Given the description of an element on the screen output the (x, y) to click on. 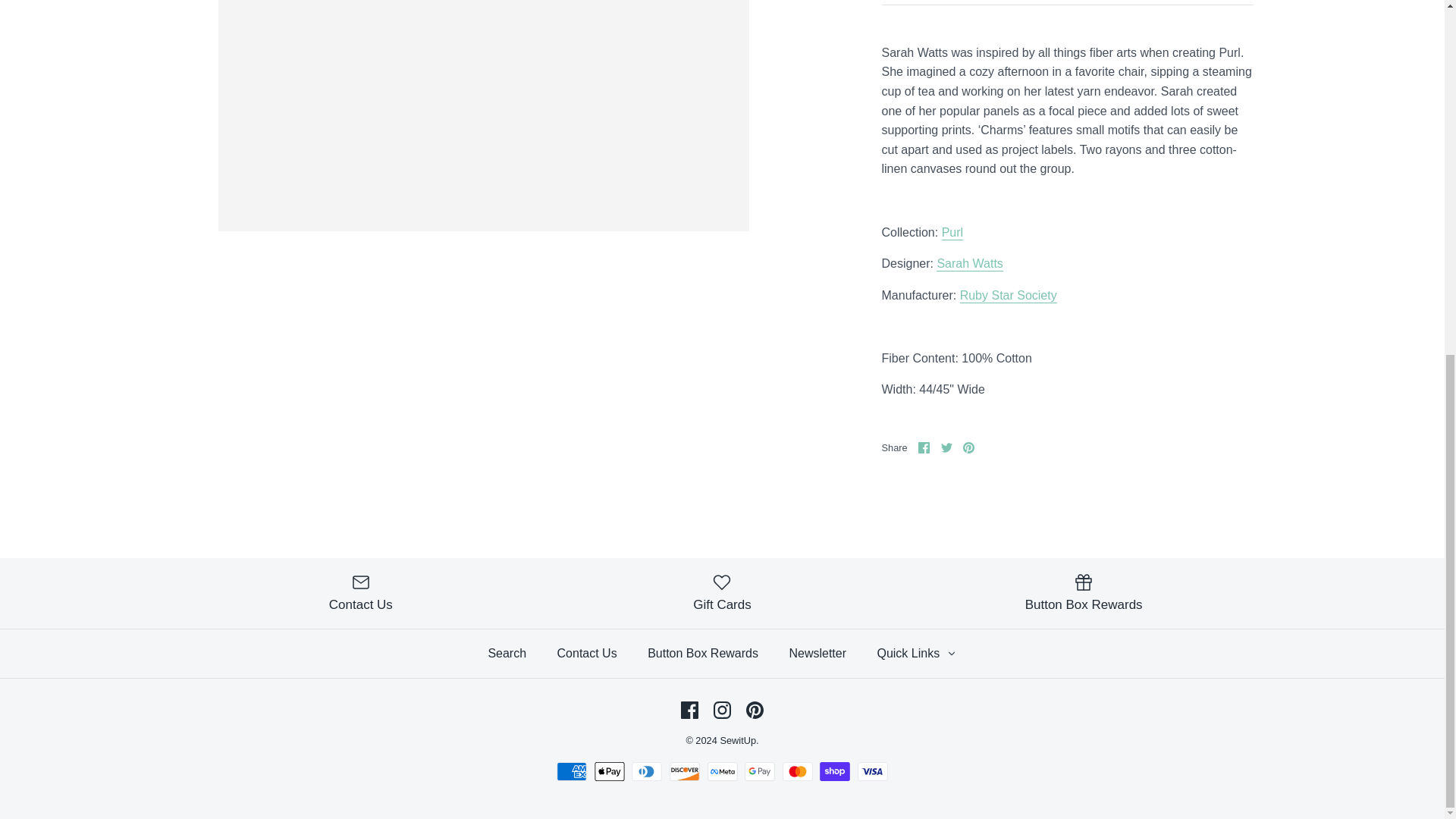
Toggle menu (951, 653)
Facebook (924, 447)
Instagram (721, 710)
Facebook (689, 710)
Pinterest (968, 447)
Sarah Watts Biography (969, 264)
Purl by Sarah Watts for Ruby Star Society (952, 233)
Twitter (946, 447)
Ruby Star Society (1008, 296)
